Given the description of an element on the screen output the (x, y) to click on. 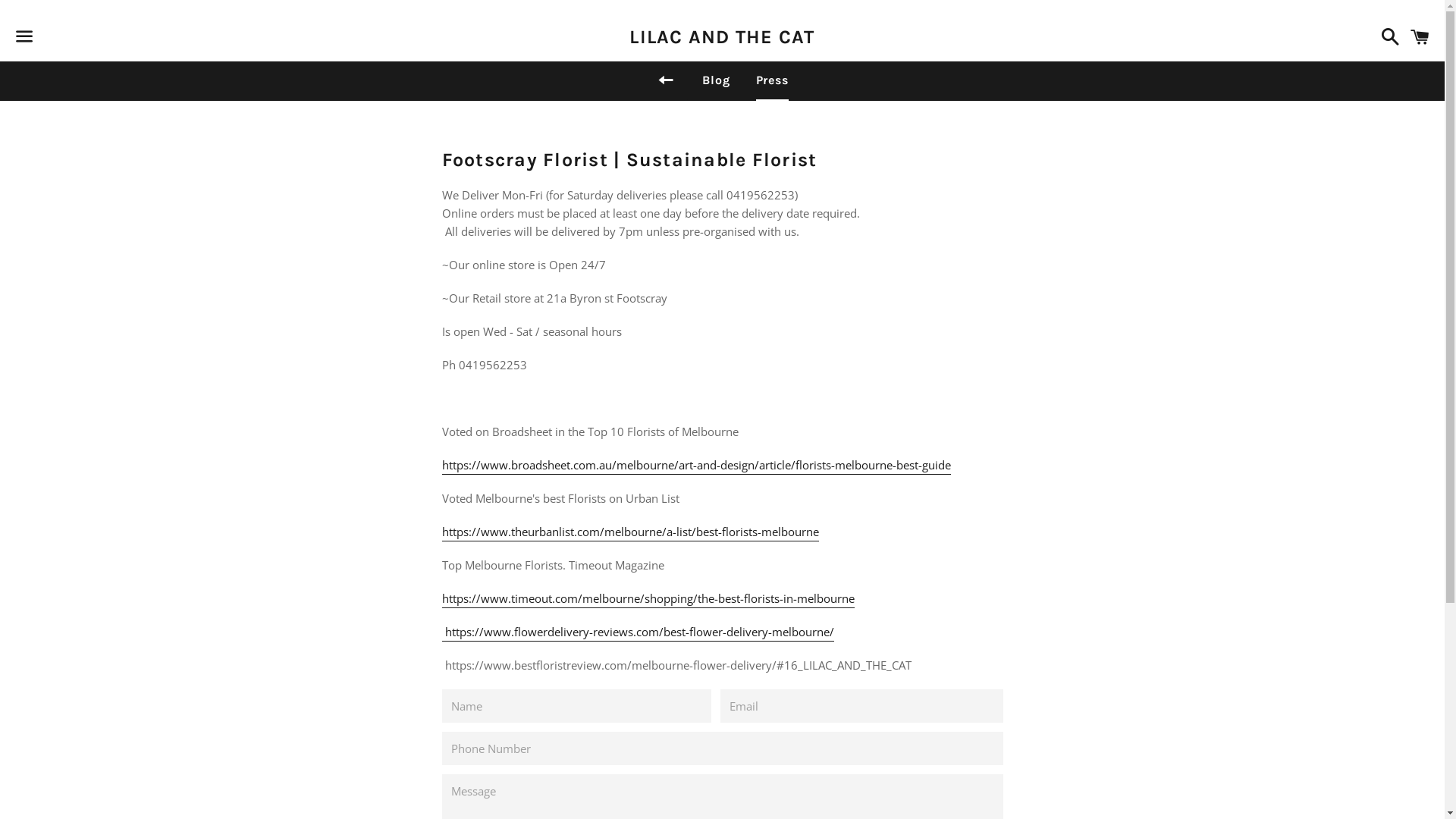
Blog Element type: text (715, 80)
Search Element type: text (1386, 36)
Press Element type: text (772, 80)
Back to site navigation Element type: text (665, 81)
Cart Element type: text (1419, 36)
Menu Element type: text (24, 36)
LILAC AND THE CAT Element type: text (721, 36)
